Given the description of an element on the screen output the (x, y) to click on. 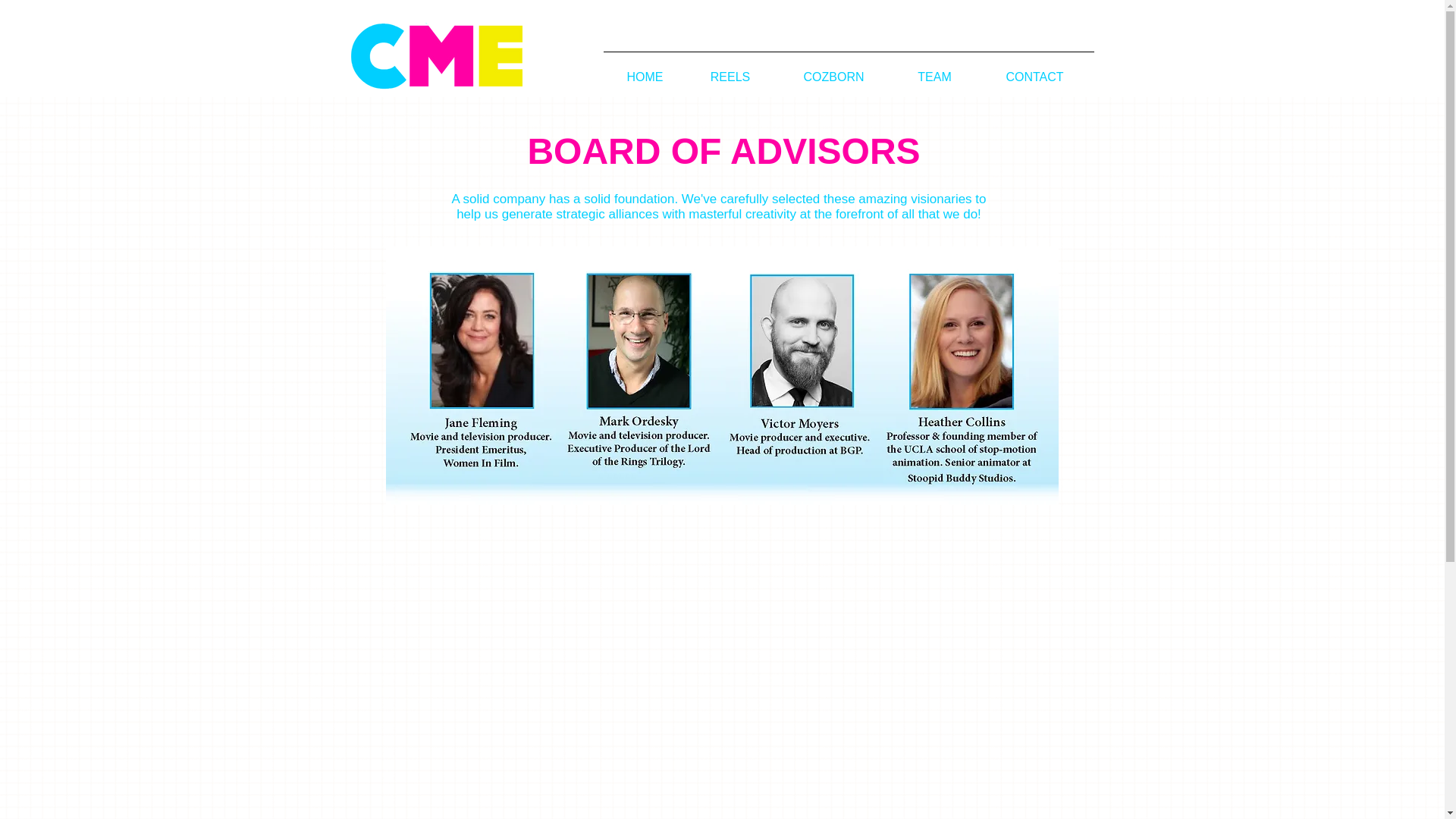
CONTACT (1034, 70)
COZBORN (833, 70)
HOME (645, 70)
REELS (730, 70)
TEAM (934, 70)
